Given the description of an element on the screen output the (x, y) to click on. 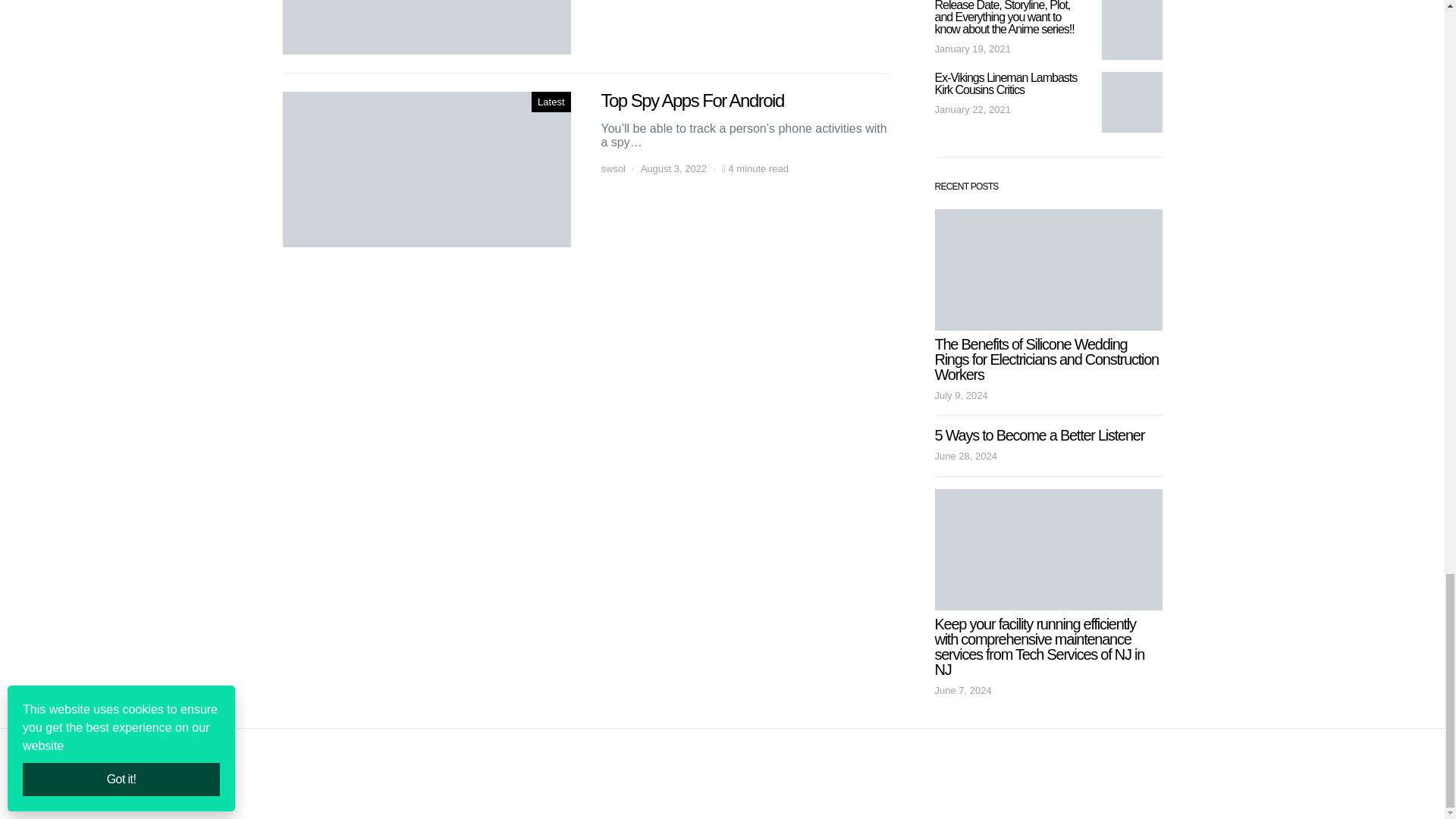
Latest (550, 102)
swsol (612, 168)
View all posts by Molly Famwat (630, 1)
Top Spy Apps For Android (426, 169)
Molly Famwat (630, 1)
View all posts by swsol (612, 168)
